Given the description of an element on the screen output the (x, y) to click on. 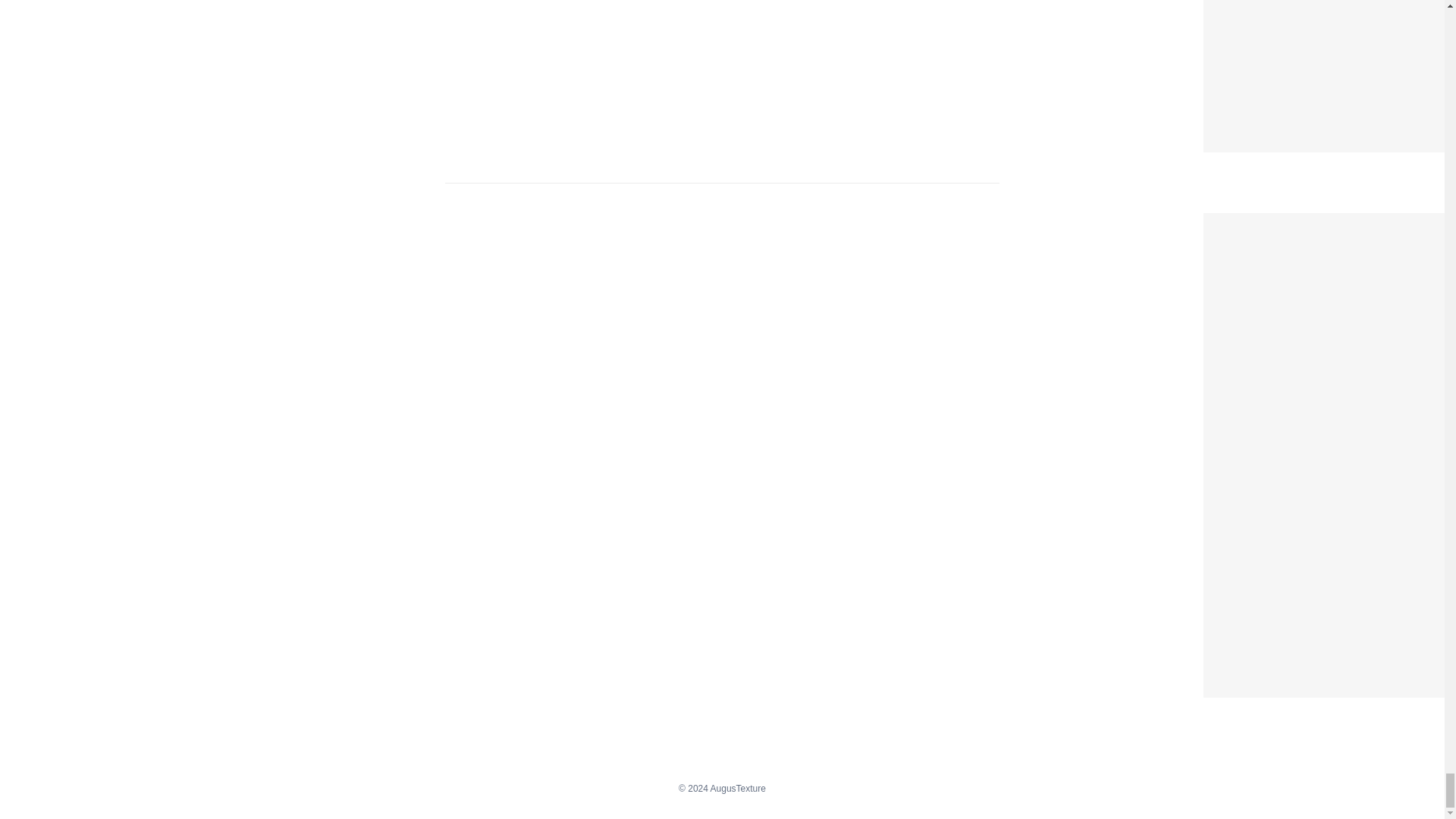
Rudolph The Red Nosed Reindeer Wallpaper Vintage Christmas (1330, 222)
